Given the description of an element on the screen output the (x, y) to click on. 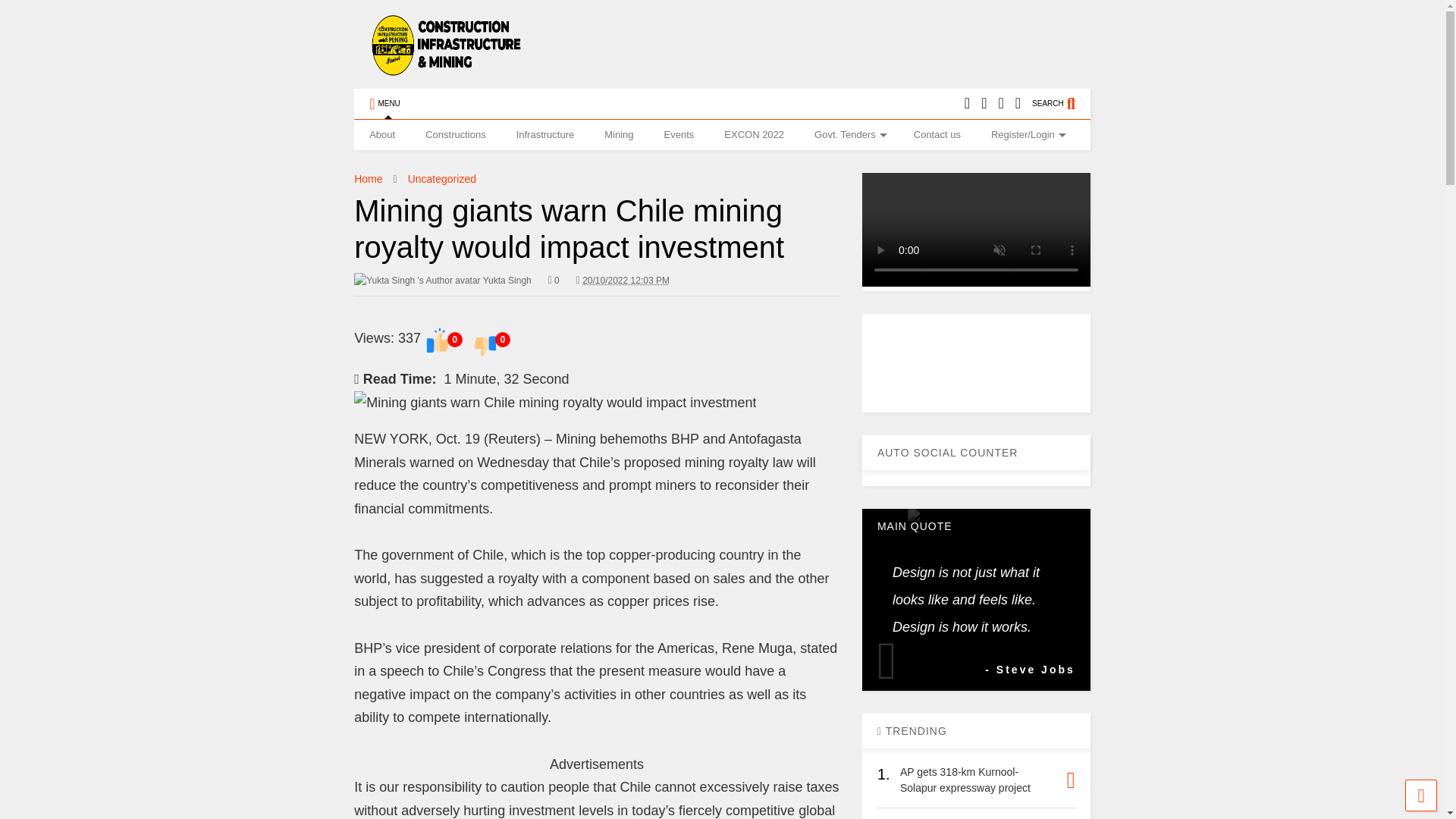
Infrastructure (544, 134)
SEARCH (1061, 103)
Constructions (455, 134)
MENU (383, 103)
Mining (618, 134)
Govt. Tenders (848, 134)
Events (679, 134)
Yukta Singh (442, 280)
EXCON 2022 (754, 134)
About (381, 134)
Contact us (936, 134)
CIMR (445, 68)
